Given the description of an element on the screen output the (x, y) to click on. 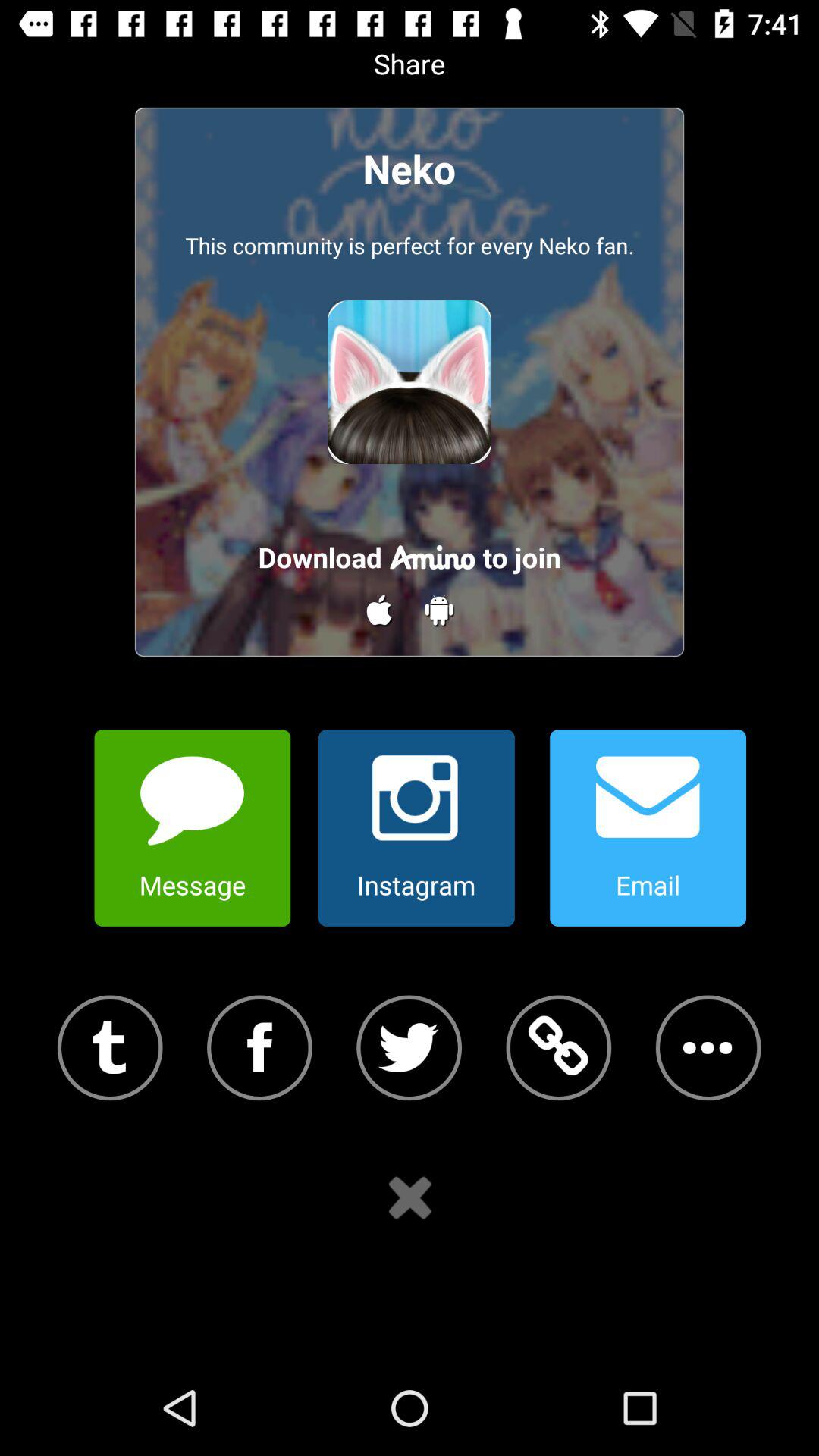
click the facebook icon (259, 1047)
